Given the description of an element on the screen output the (x, y) to click on. 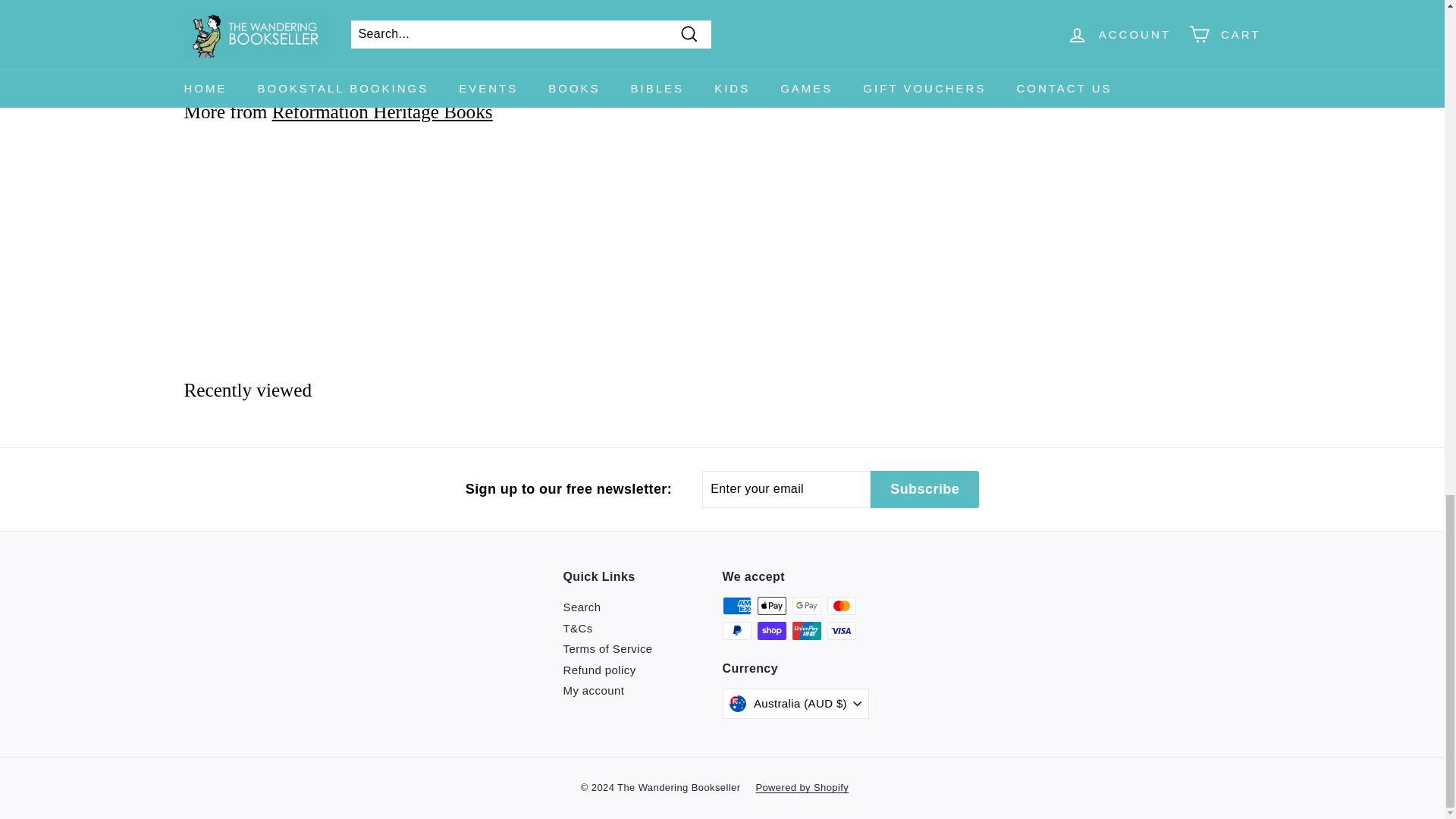
Union Pay (806, 630)
Shop Pay (771, 630)
Mastercard (841, 606)
American Express (736, 606)
Visa (841, 630)
Apple Pay (771, 606)
PayPal (736, 630)
Google Pay (806, 606)
